Given the description of an element on the screen output the (x, y) to click on. 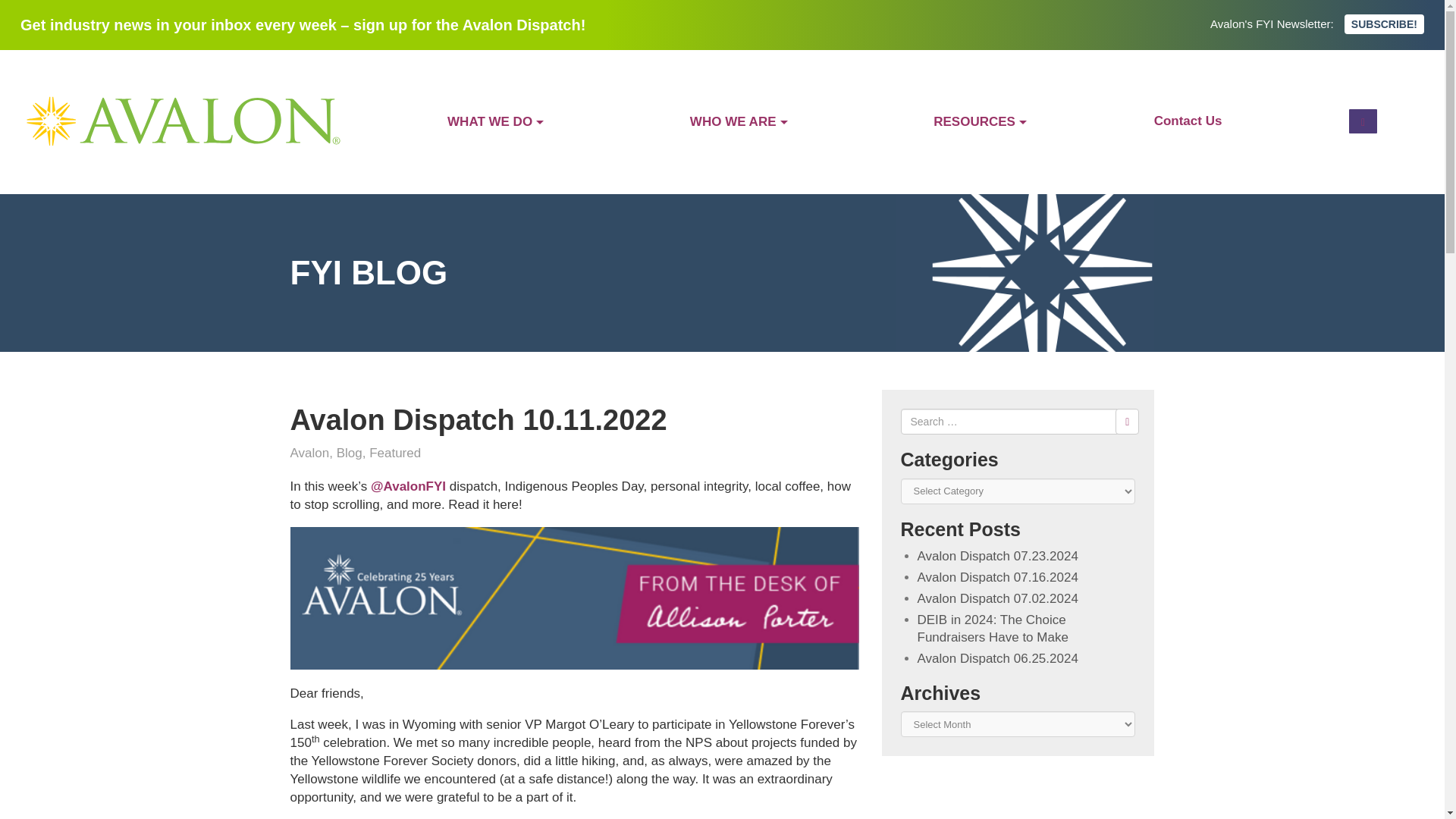
WHAT WE DO (494, 122)
SUBSCRIBE! (1383, 24)
RESOURCES (979, 122)
Contact Us (1188, 120)
WHO WE ARE (738, 122)
